Given the description of an element on the screen output the (x, y) to click on. 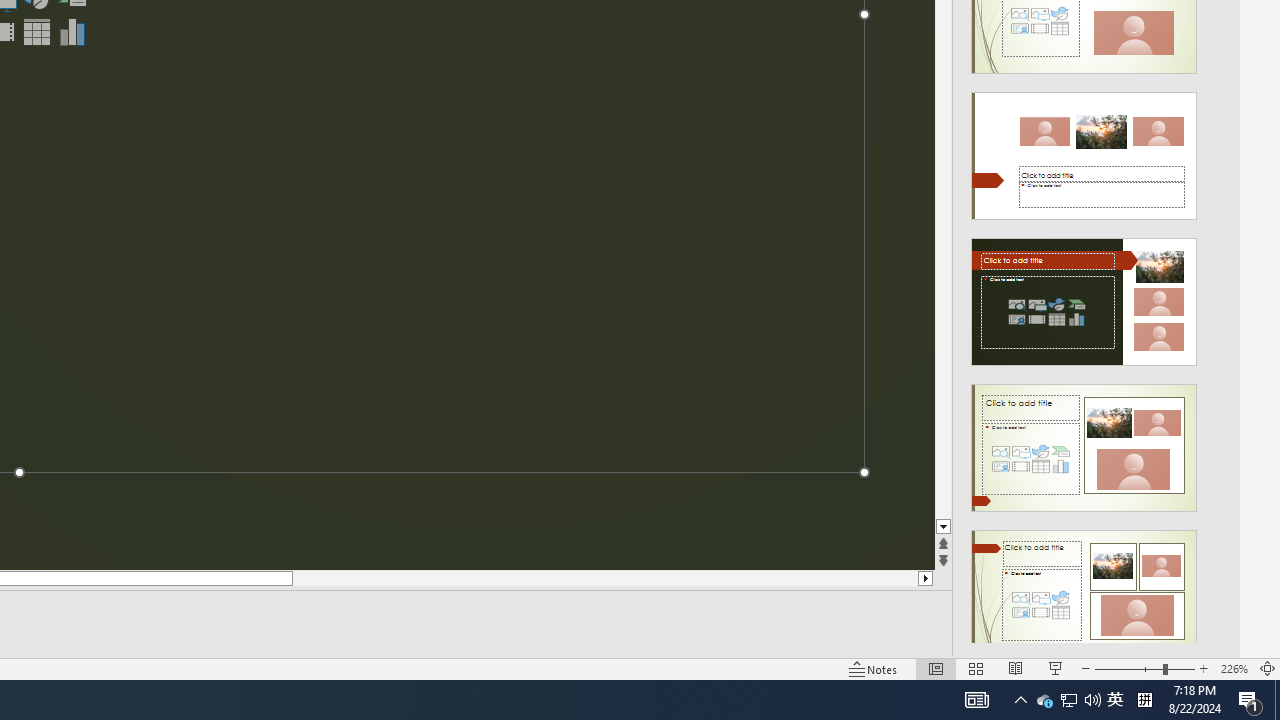
Zoom 226% (1234, 668)
Insert Table (36, 31)
Insert Chart (73, 31)
